Given the description of an element on the screen output the (x, y) to click on. 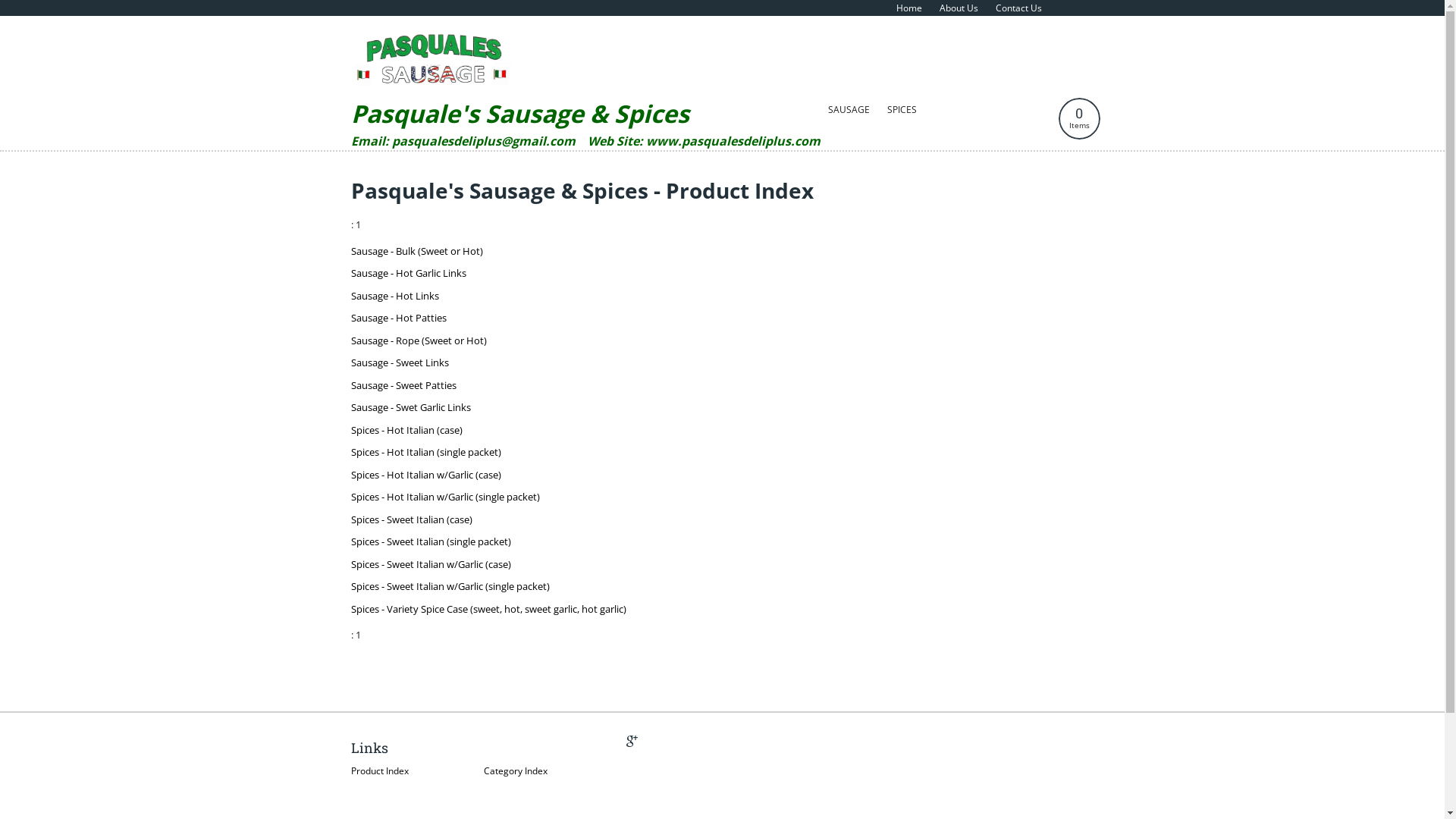
About Us Element type: text (957, 7)
Sausage - Sweet Patties Element type: text (402, 385)
Sausage - Rope (Sweet or Hot) Element type: text (418, 340)
Home Element type: text (909, 7)
0
Items Element type: text (1079, 118)
SPICES Element type: text (901, 109)
Sausage - Sweet Links Element type: text (399, 362)
Sausage - Hot Links Element type: text (394, 295)
Spices - Sweet Italian w/Garlic (case) Element type: text (430, 564)
Follow Us on Google+ Element type: hover (631, 739)
Category Index Element type: text (515, 770)
Sausage - Hot Patties Element type: text (397, 317)
Sausage - Bulk (Sweet or Hot) Element type: text (416, 250)
Spices - Hot Italian (case) Element type: text (405, 429)
Sausage - Hot Garlic Links Element type: text (407, 272)
Spices - Hot Italian (single packet) Element type: text (425, 451)
SAUSAGE Element type: text (848, 109)
Spices - Hot Italian w/Garlic (single packet) Element type: text (444, 496)
Sausage - Swet Garlic Links Element type: text (410, 407)
Spices - Hot Italian w/Garlic (case) Element type: text (425, 474)
Product Index Element type: text (378, 770)
Contact Us Element type: text (1017, 7)
Spices - Sweet Italian (single packet) Element type: text (430, 541)
Spices - Sweet Italian (case) Element type: text (410, 519)
Spices - Sweet Italian w/Garlic (single packet) Element type: text (449, 586)
